Given the description of an element on the screen output the (x, y) to click on. 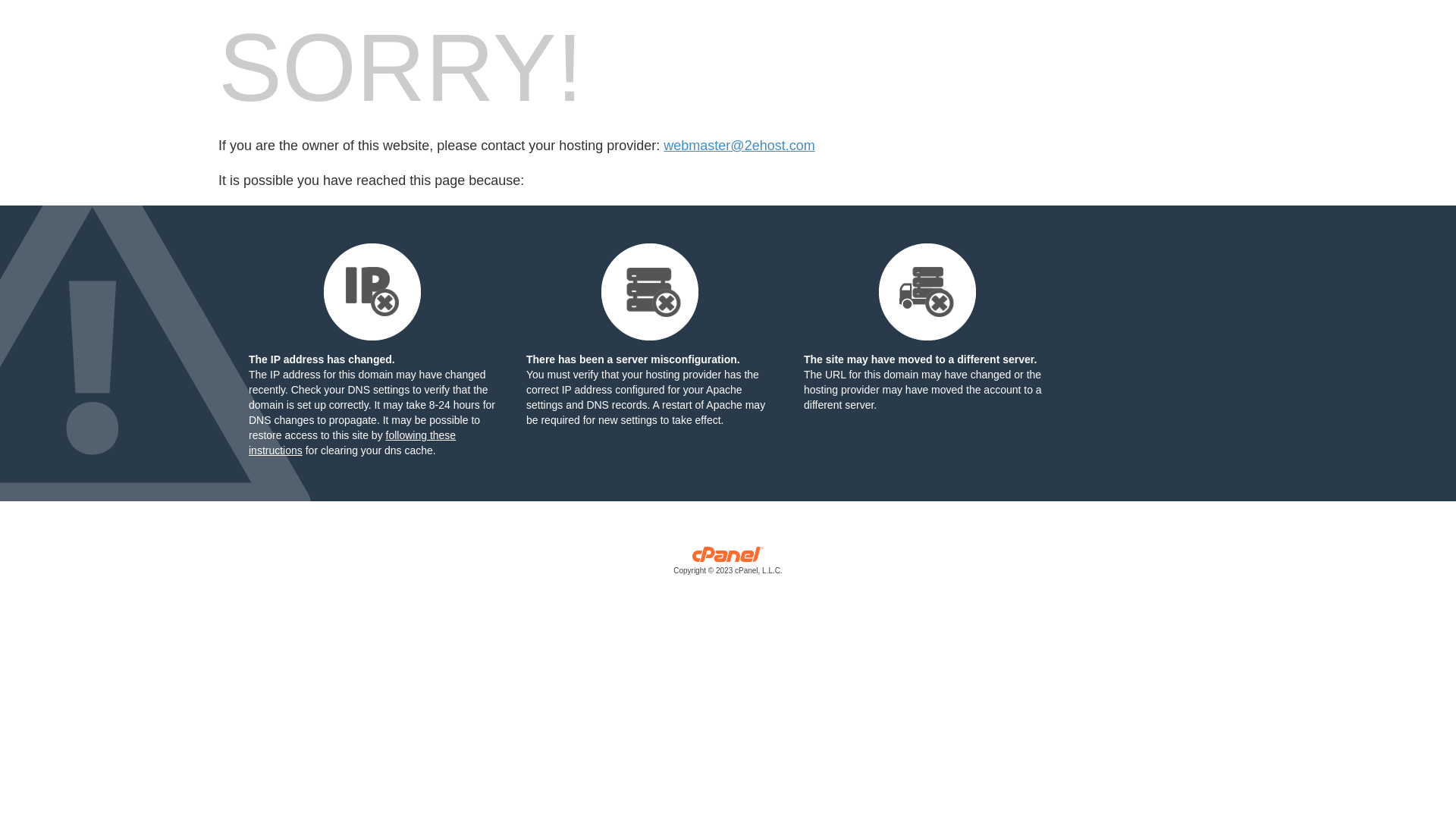
webmaster@2ehost.com Element type: text (738, 145)
following these instructions Element type: text (351, 442)
